Given the description of an element on the screen output the (x, y) to click on. 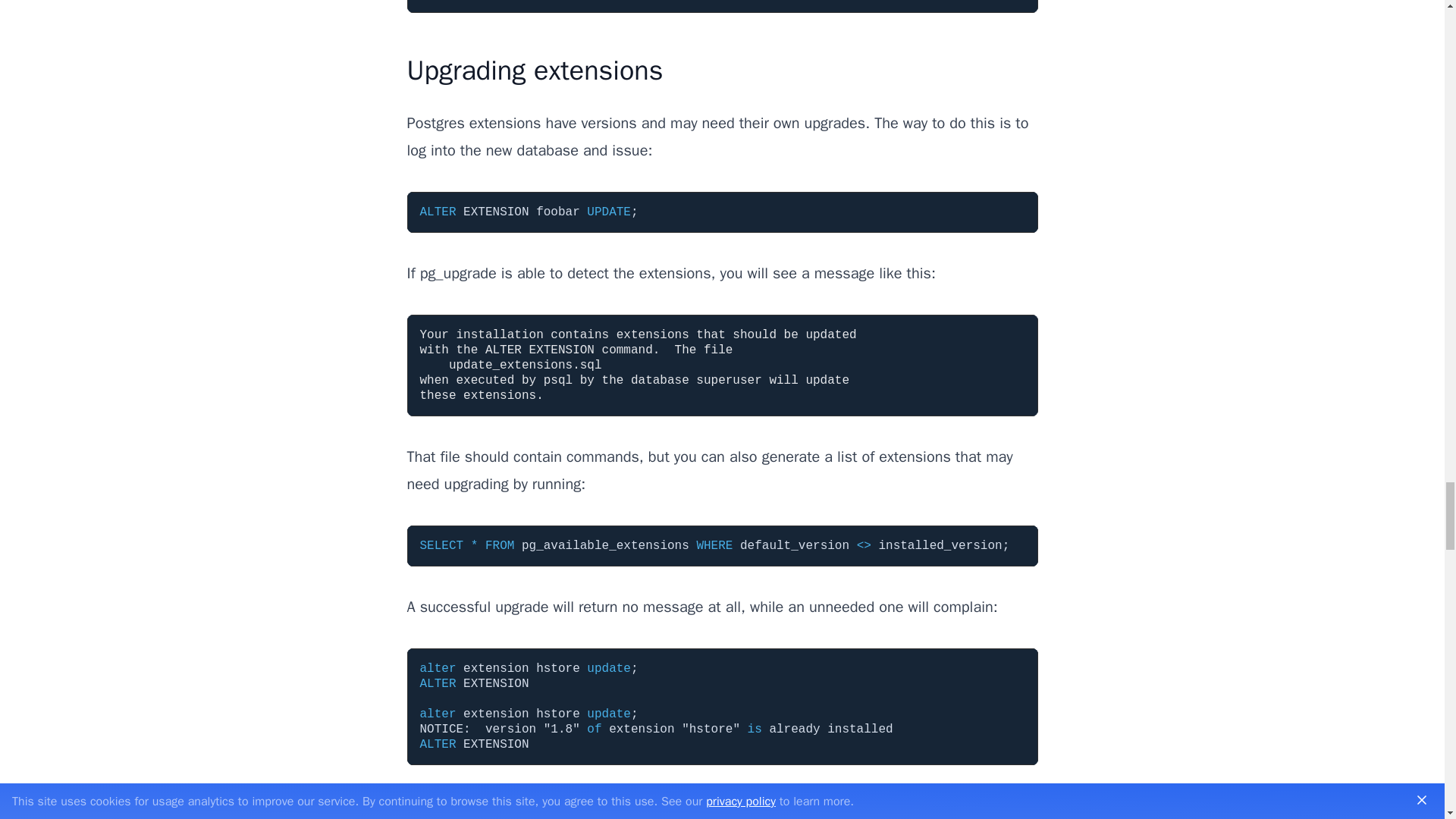
Upgrade monitoring and tools (582, 812)
Upgrading extensions (534, 70)
